Given the description of an element on the screen output the (x, y) to click on. 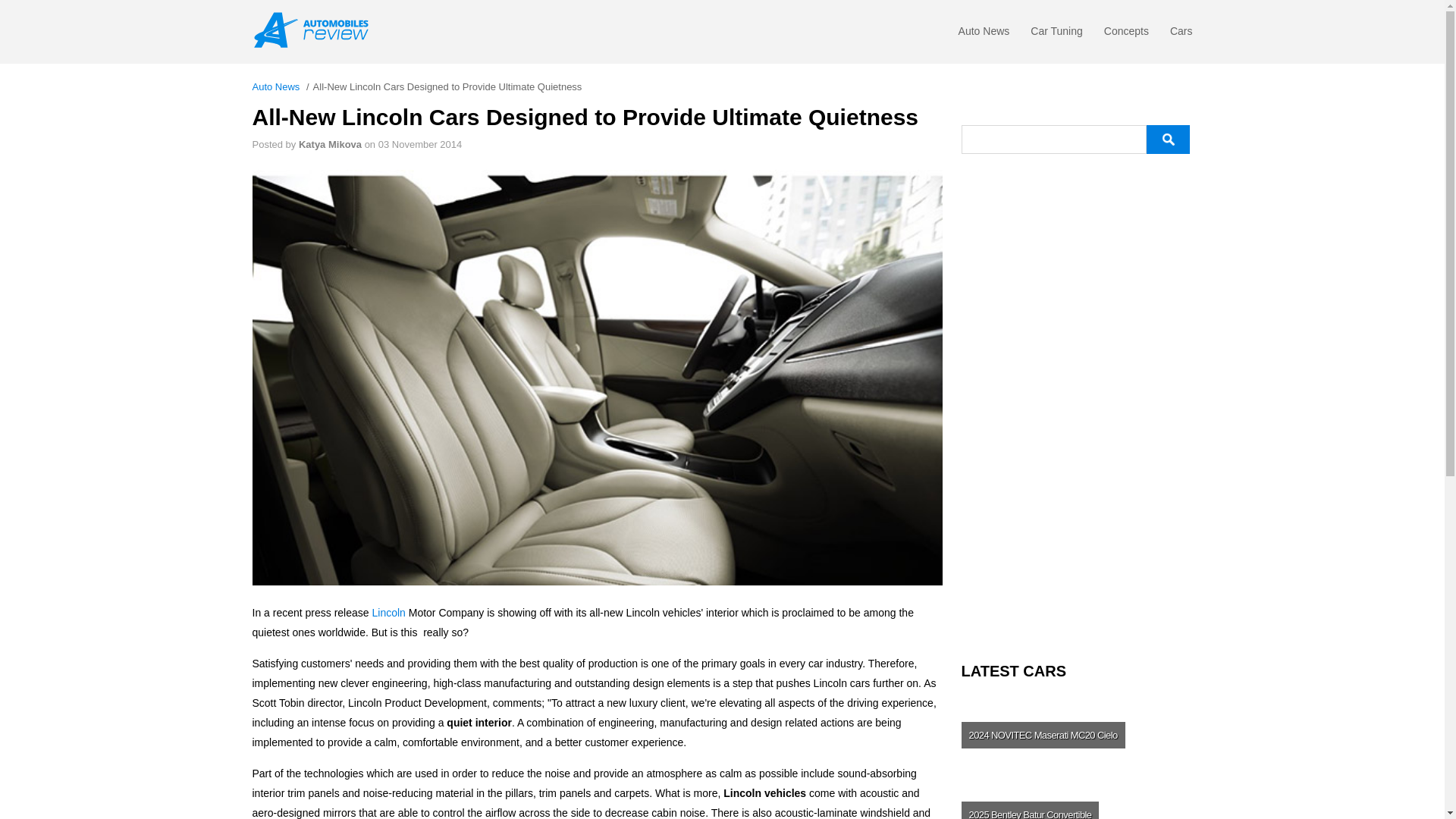
Car Tuning (1055, 35)
Automobilesreview.com (315, 30)
Car Tuning (1055, 35)
Concepts (1125, 35)
Auto News (275, 86)
Concepts (1125, 35)
NOVITEC Maserati MC20 Cielo (1074, 734)
Lincoln (389, 612)
Bentley Batur Convertible (1074, 797)
LATEST CARS (1076, 671)
Auto News (984, 35)
Cars (1181, 35)
Cars (1181, 35)
Auto News (984, 35)
